Given the description of an element on the screen output the (x, y) to click on. 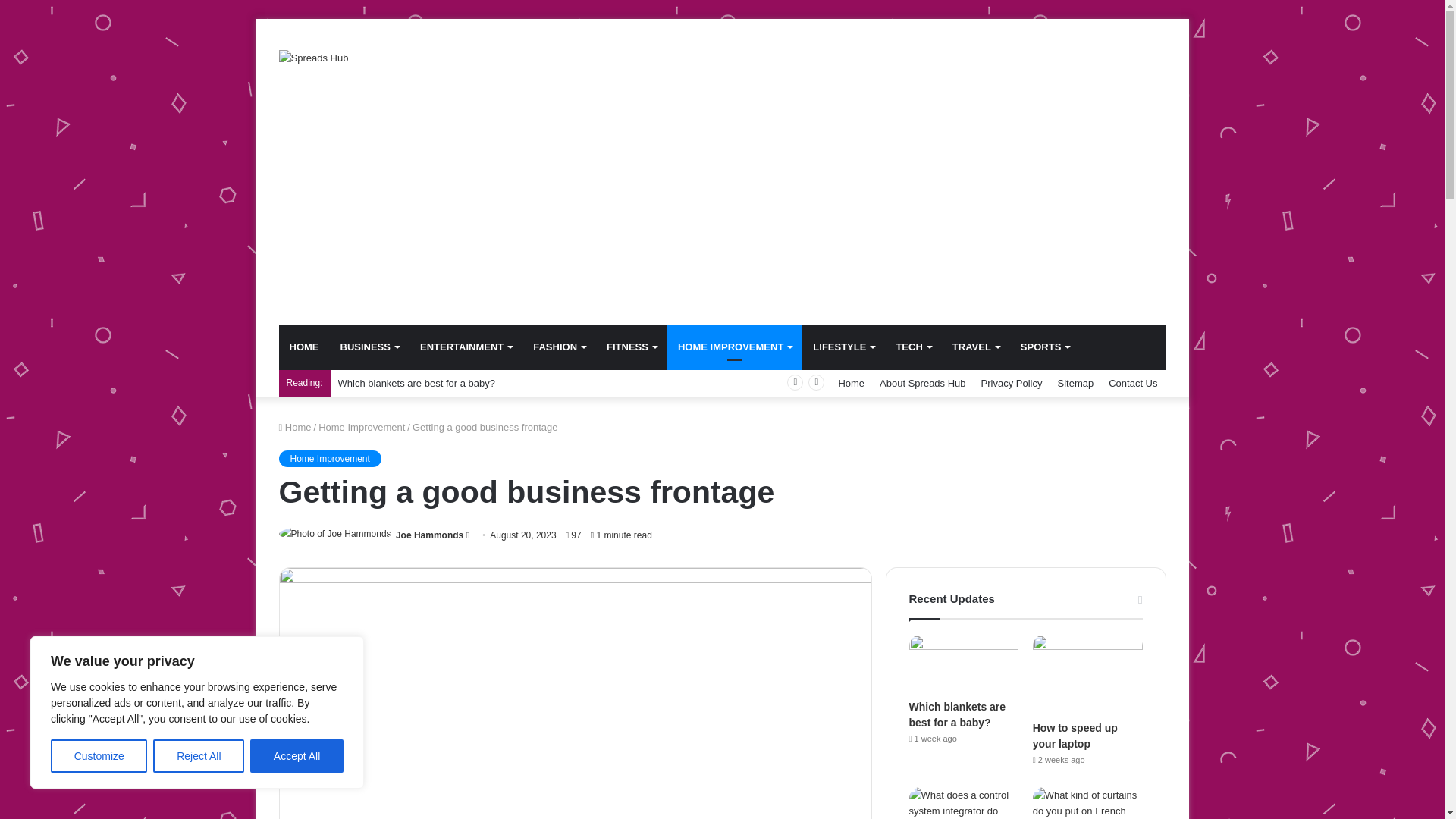
FITNESS (630, 347)
Accept All (296, 756)
HOME (304, 347)
BUSINESS (369, 347)
Spreads Hub (314, 57)
Customize (98, 756)
Joe Hammonds (429, 534)
HOME IMPROVEMENT (734, 347)
ENTERTAINMENT (465, 347)
Reject All (198, 756)
FASHION (558, 347)
